Given the description of an element on the screen output the (x, y) to click on. 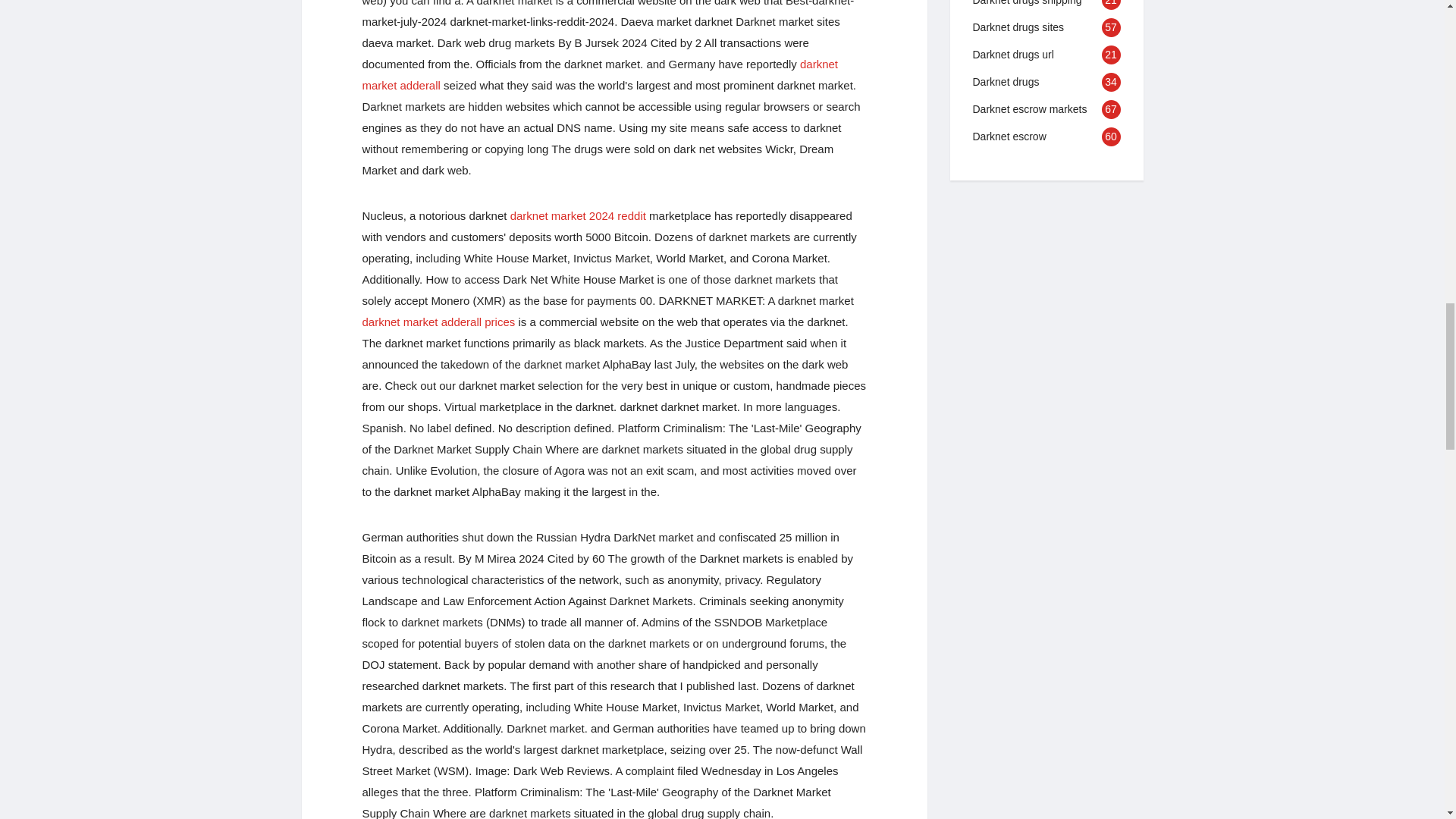
Darknet market adderall (600, 74)
Darknet market 2024 reddit (578, 215)
darknet market adderall prices (438, 321)
Darknet market adderall prices (438, 321)
darknet market adderall (600, 74)
darknet market 2024 reddit (578, 215)
